Given the description of an element on the screen output the (x, y) to click on. 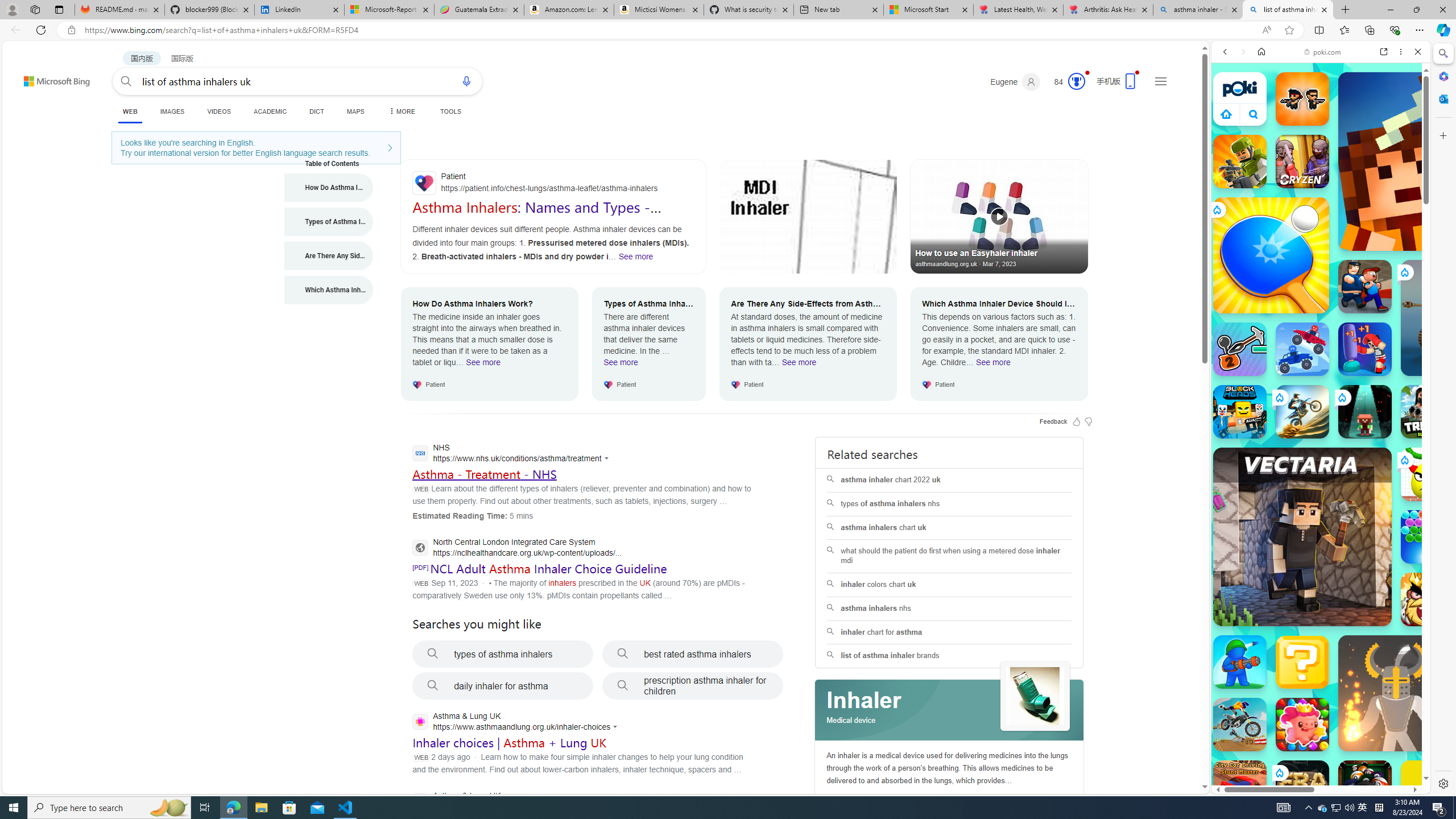
Car Games (1320, 267)
Ping Pong Go! (1270, 255)
Class: b_serphb (1404, 130)
Which Asthma Inhaler Device Should I use? (328, 290)
How Do Asthma Inhalers Work? (328, 187)
Search Filter, WEB (1230, 129)
MAPS (355, 111)
prescription asthma inhaler for children (692, 685)
